Given the description of an element on the screen output the (x, y) to click on. 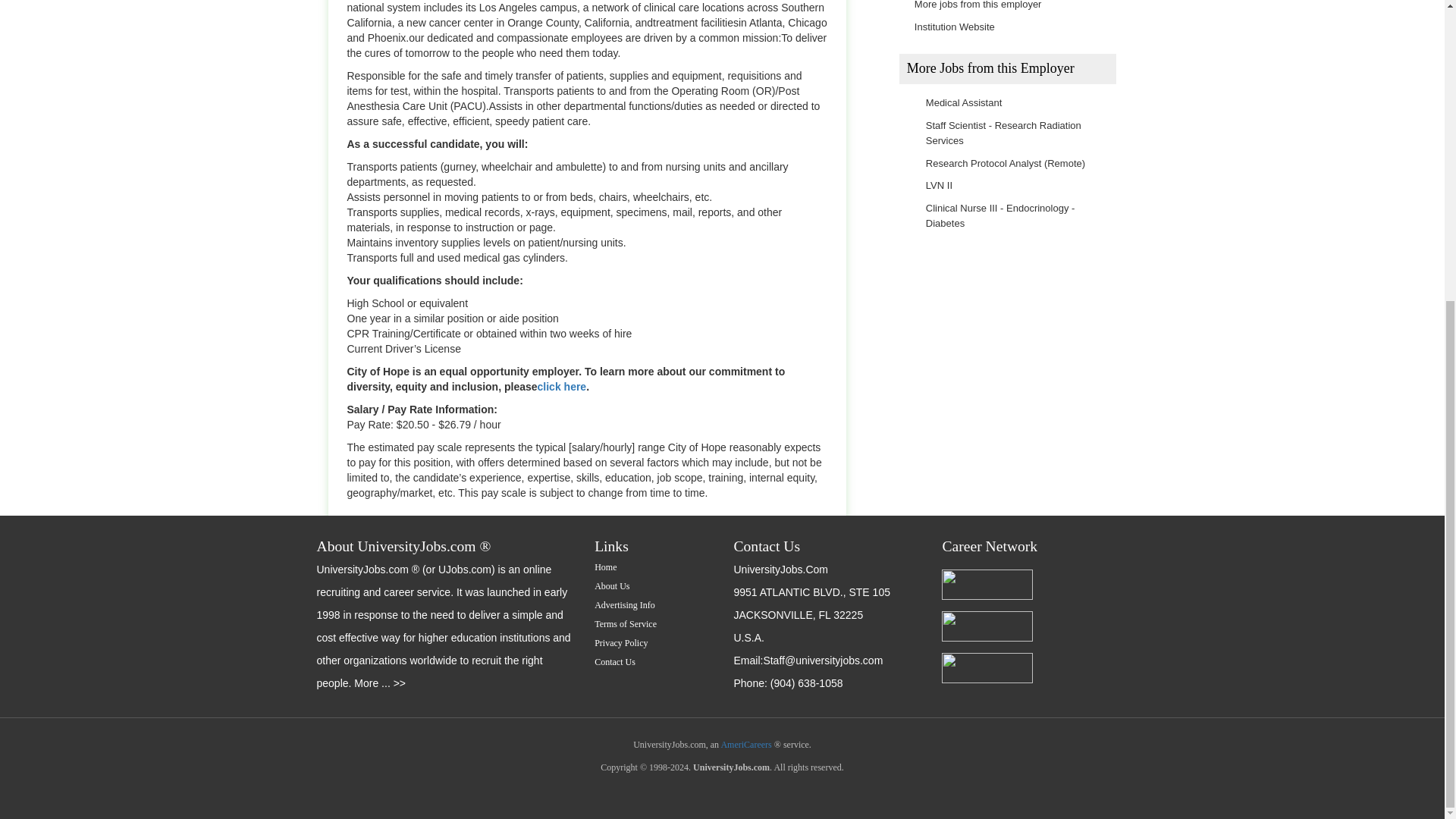
Institution Website (954, 26)
Home (604, 566)
Privacy Policy (620, 643)
LVN II (939, 184)
AmeriCareers (745, 744)
Advertising Info (624, 604)
Contact Us (614, 661)
Terms of Service (625, 624)
More jobs from this employer (978, 4)
About Us (611, 585)
Medical Assistant (963, 102)
Apply Now (382, 733)
Clinical Nurse III - Endocrinology - Diabetes (1000, 215)
click here (561, 386)
Staff Scientist - Research Radiation Services (1003, 132)
